Given the description of an element on the screen output the (x, y) to click on. 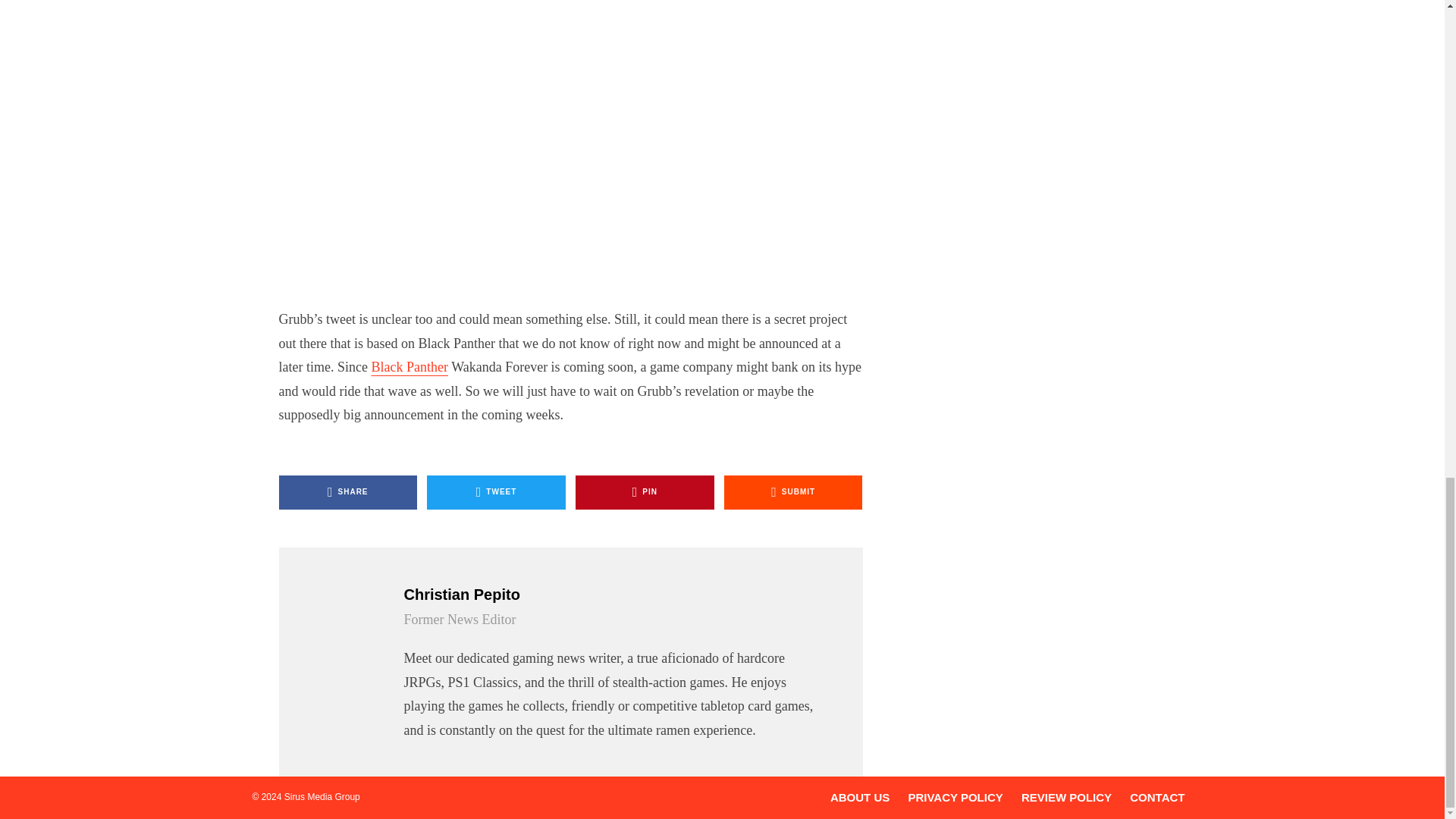
Black Panther (408, 366)
Christian Pepito (613, 594)
REVIEW POLICY (1067, 797)
SHARE (348, 492)
ABOUT US (859, 797)
SUBMIT (793, 492)
PIN (644, 492)
CONTACT (1157, 797)
TWEET (496, 492)
PRIVACY POLICY (955, 797)
